Given the description of an element on the screen output the (x, y) to click on. 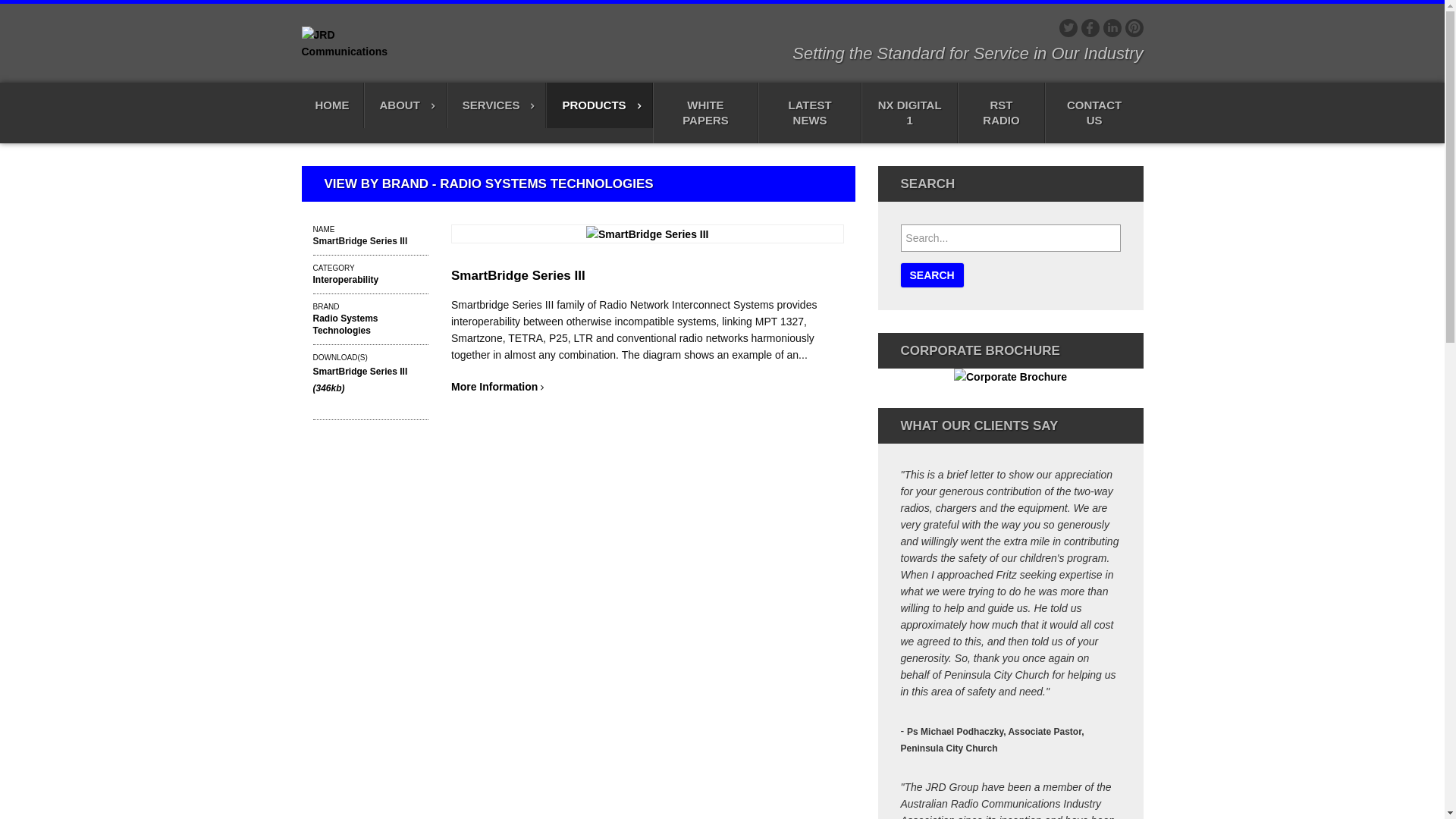
ABOUT Element type: text (405, 105)
RST RADIO Element type: text (1000, 112)
SmartBridge Series III Element type: text (518, 275)
LATEST NEWS Element type: text (809, 112)
More Information Element type: text (497, 386)
Search Element type: text (931, 275)
SERVICES Element type: text (496, 105)
HOME Element type: text (332, 105)
Radio Systems Technologies Element type: text (344, 324)
NX DIGITAL 1 Element type: text (909, 112)
Interoperability Element type: text (345, 279)
WHITE PAPERS Element type: text (705, 112)
Corporate Brochure Element type: hover (1009, 386)
PRODUCTS Element type: text (599, 105)
SmartBridge Series III (346kb) Element type: text (359, 379)
CONTACT US Element type: text (1093, 112)
